Given the description of an element on the screen output the (x, y) to click on. 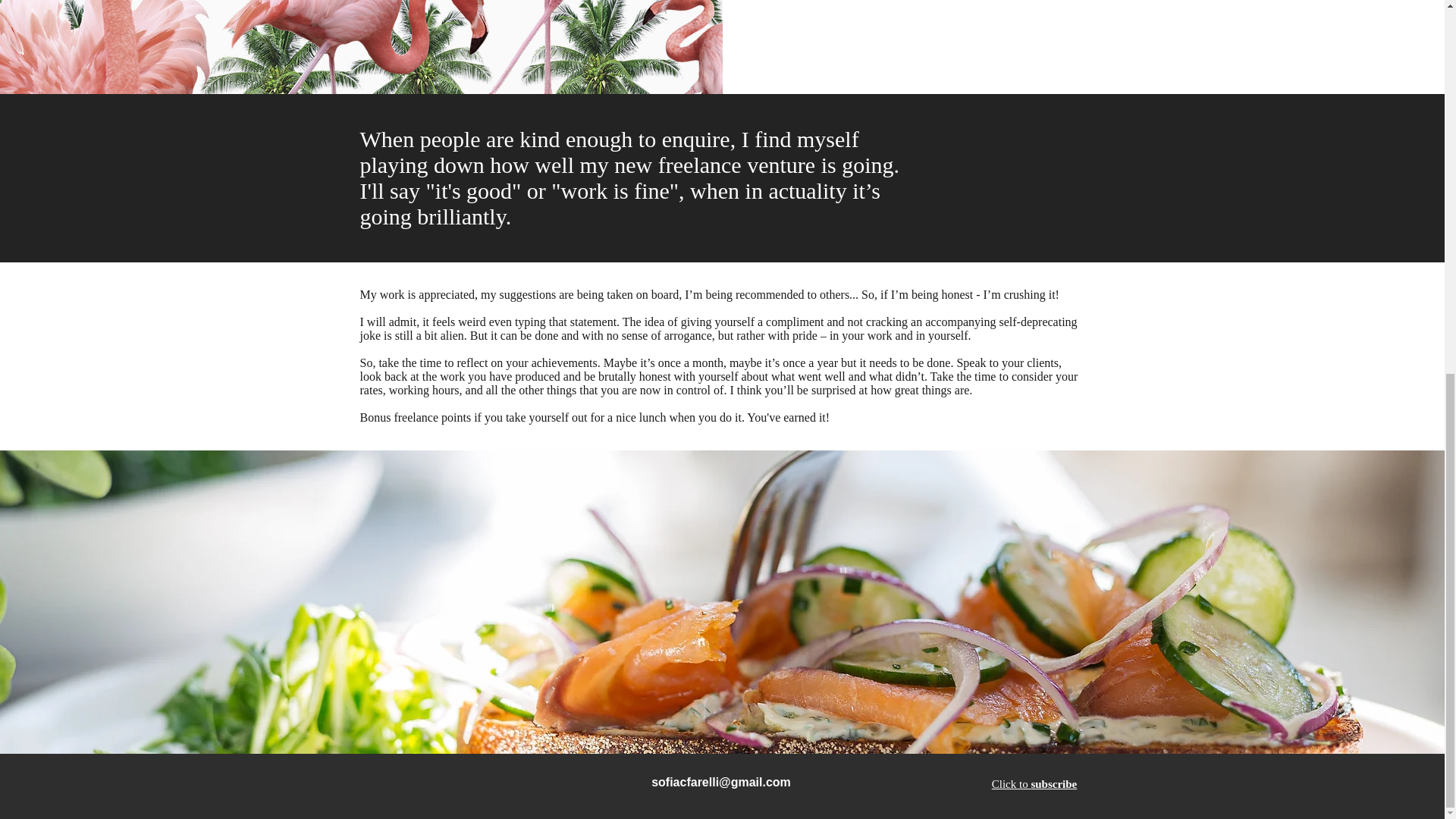
Click to subscribe (1034, 784)
